Given the description of an element on the screen output the (x, y) to click on. 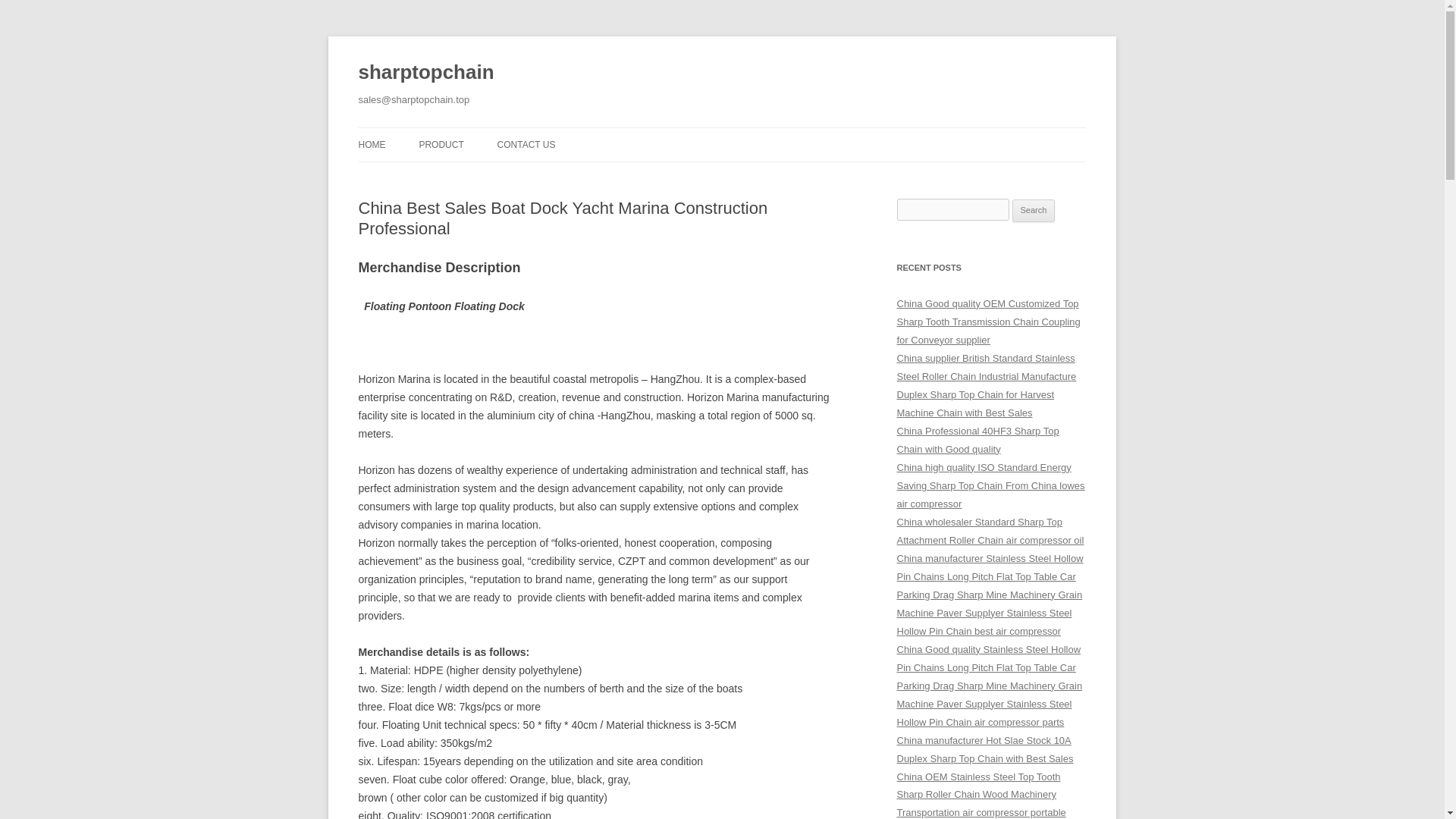
Search (1033, 210)
PRODUCT (441, 144)
sharptopchain (425, 72)
Search (1033, 210)
sharptopchain (425, 72)
